Given the description of an element on the screen output the (x, y) to click on. 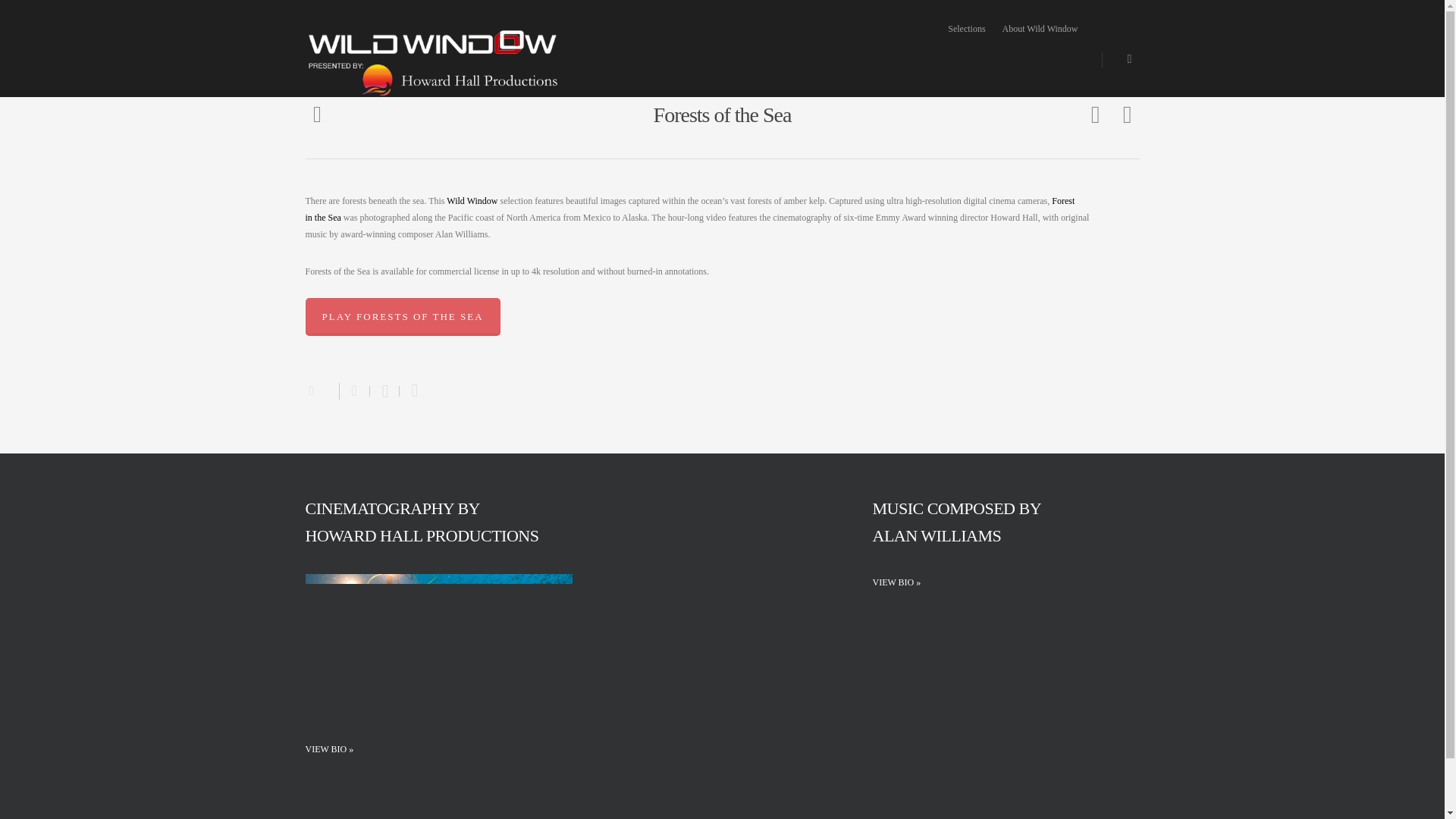
Selections (966, 28)
Love this (320, 388)
About Wild Window (1040, 28)
Tweet this (383, 390)
Pin this (410, 390)
Share this (354, 390)
PLAY FORESTS OF THE SEA (401, 316)
